Given the description of an element on the screen output the (x, y) to click on. 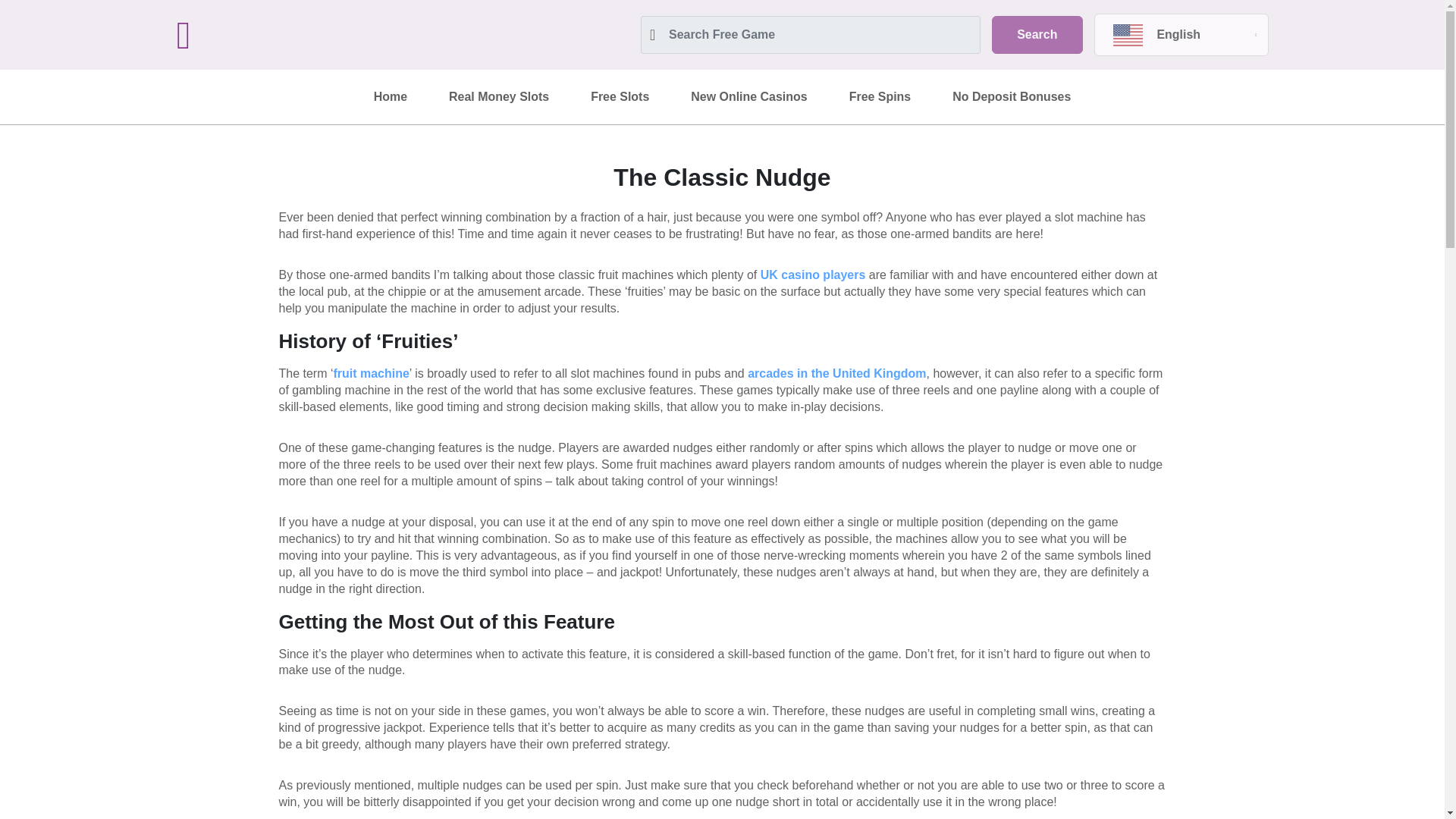
arcades in the United Kingdom (837, 373)
Search (1036, 34)
Home (390, 96)
No Deposit Bonuses (1011, 96)
homepage (304, 34)
Free Slots (620, 96)
Real Money Slots (498, 96)
New Online Casinos (748, 96)
fruit machine (371, 373)
UK casino players (813, 274)
